Given the description of an element on the screen output the (x, y) to click on. 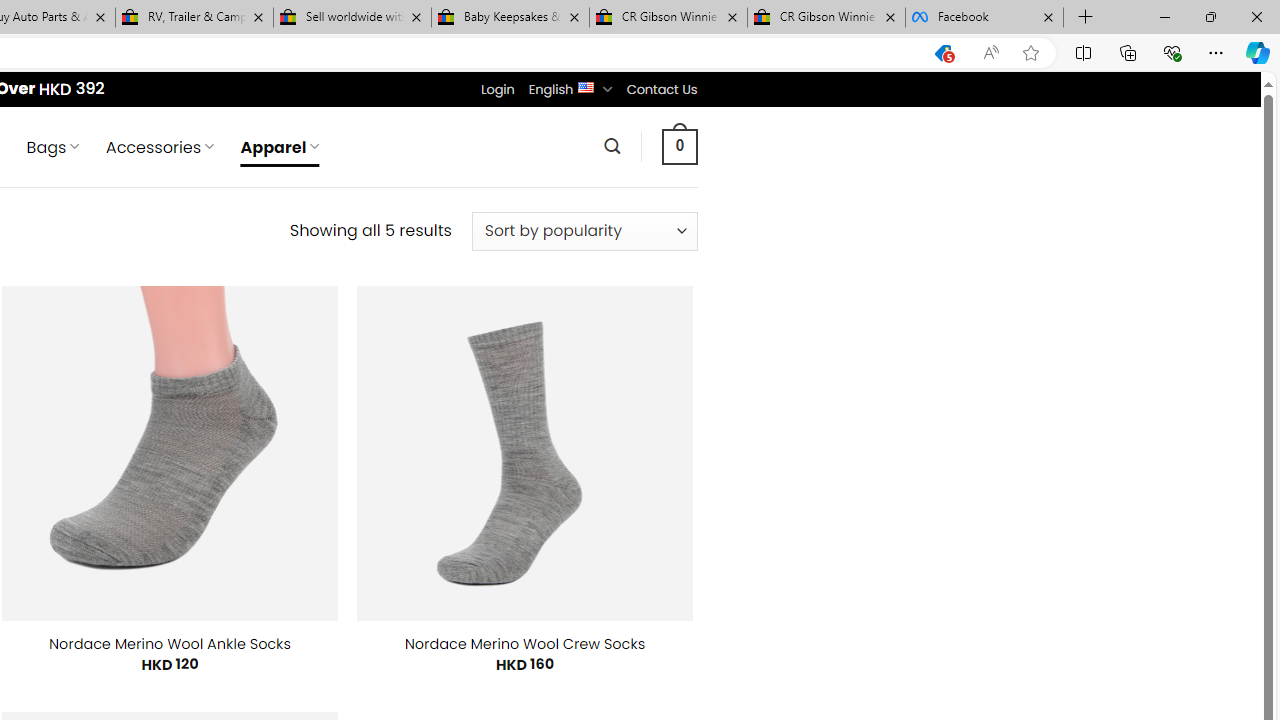
Shop order (584, 231)
